Given the description of an element on the screen output the (x, y) to click on. 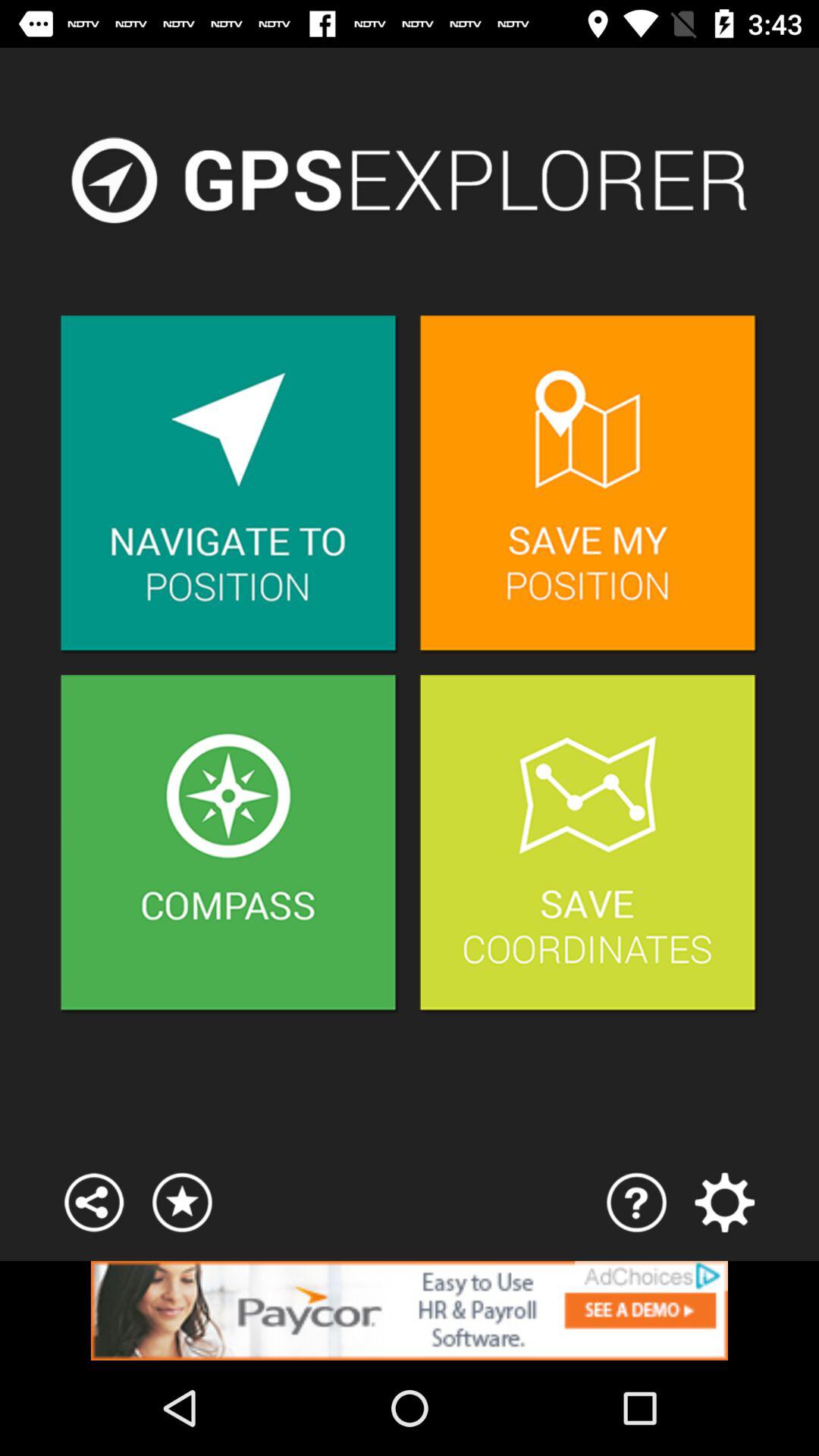
open favourites (182, 1202)
